Given the description of an element on the screen output the (x, y) to click on. 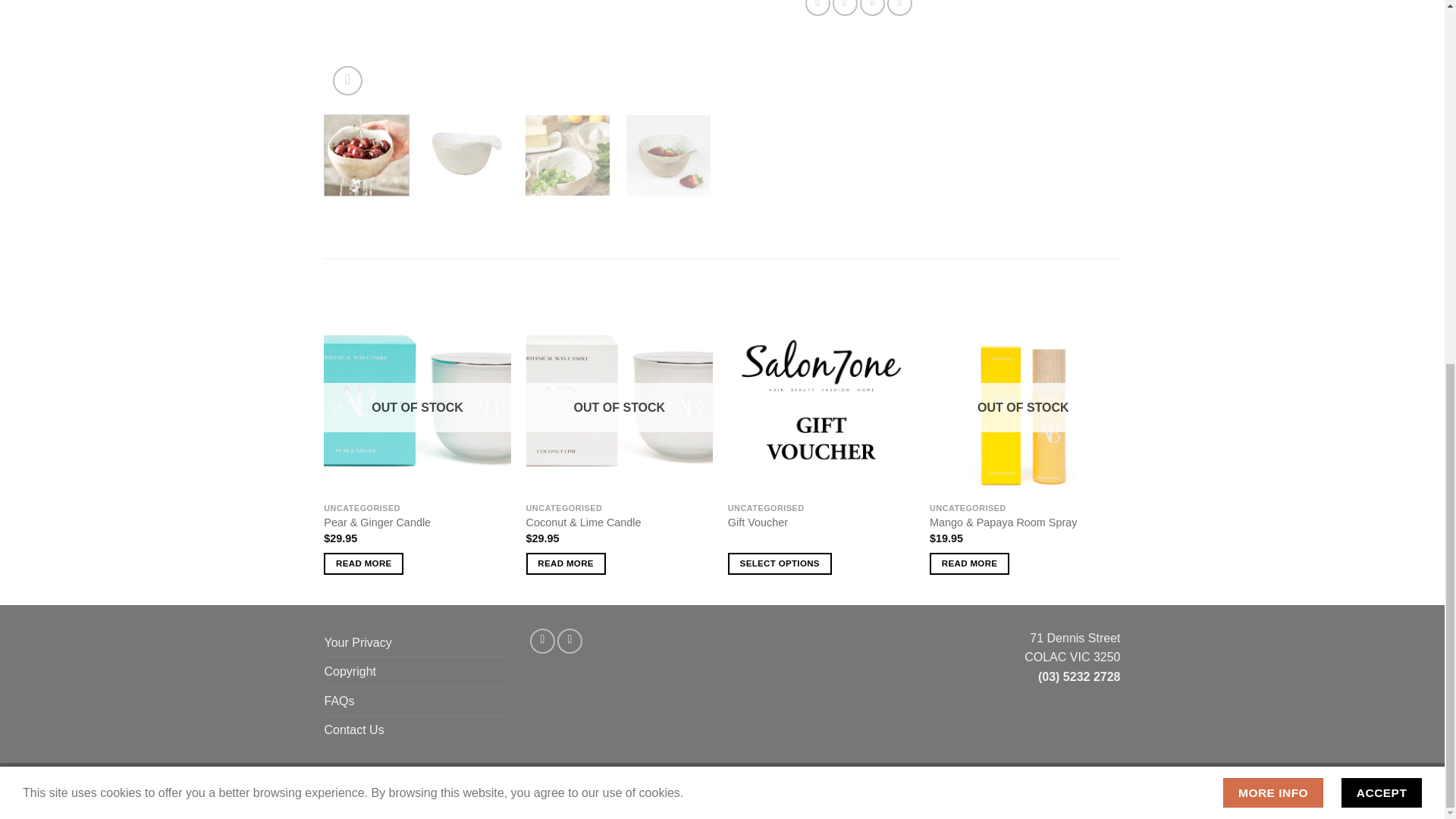
Follow on Instagram (569, 640)
Email to a Friend (872, 7)
Zoom (347, 80)
Follow on Facebook (541, 640)
Pin on Pinterest (899, 7)
Share on Twitter (844, 7)
Share on Facebook (817, 7)
